Given the description of an element on the screen output the (x, y) to click on. 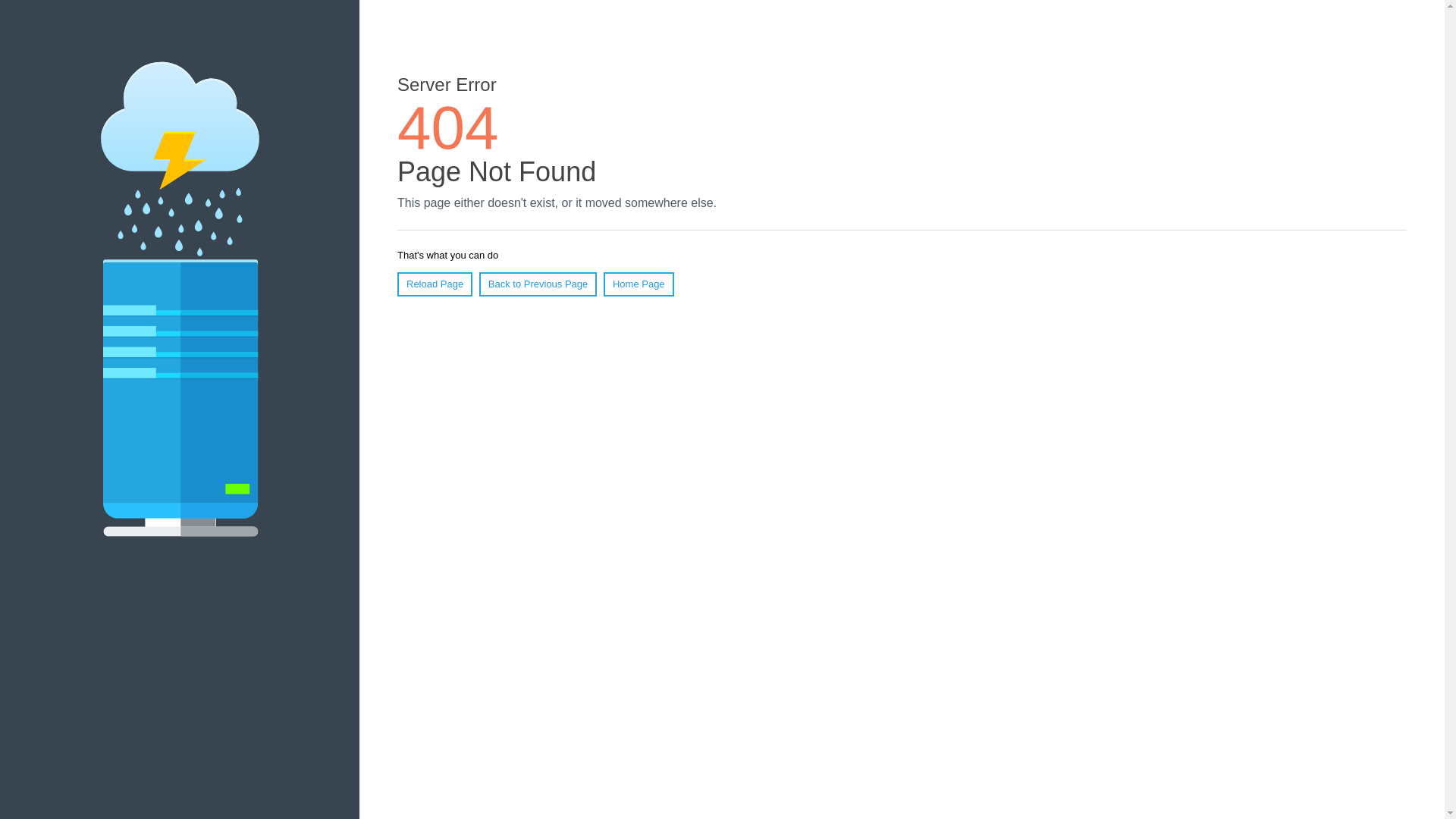
Home Page Element type: text (638, 284)
Back to Previous Page Element type: text (538, 284)
Reload Page Element type: text (434, 284)
